Given the description of an element on the screen output the (x, y) to click on. 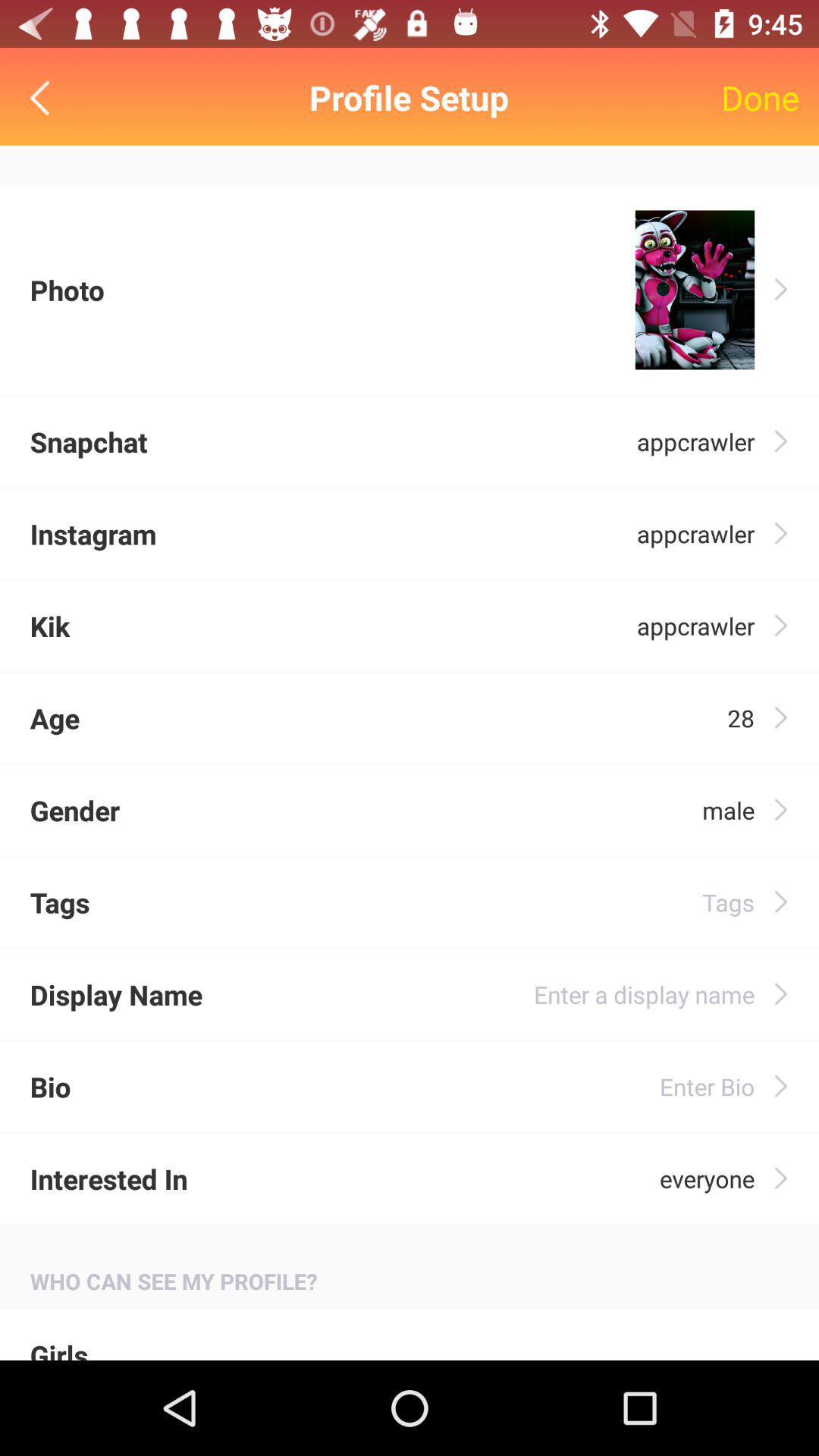
turn on item next to the profile setup item (43, 97)
